Given the description of an element on the screen output the (x, y) to click on. 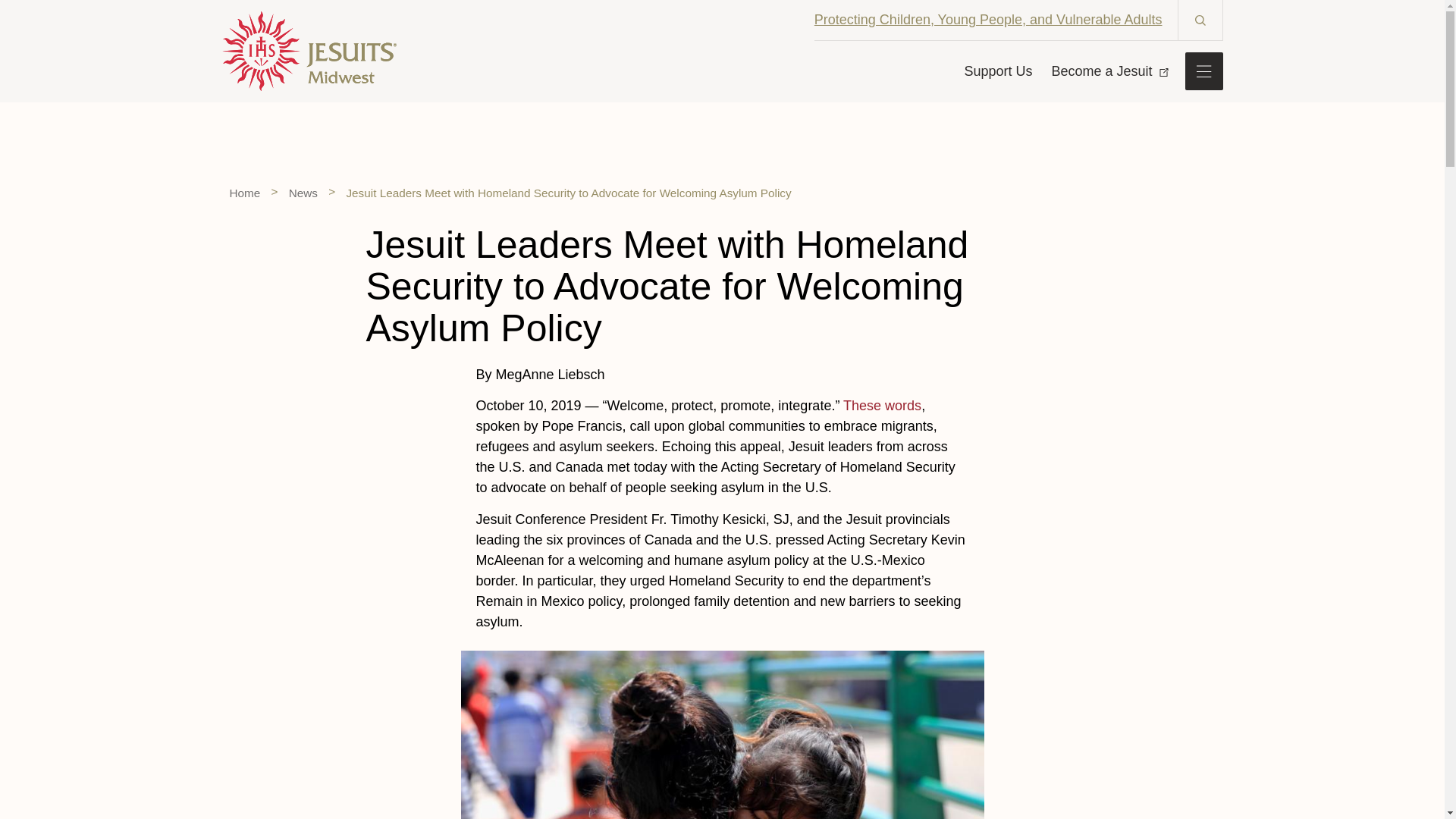
Home (244, 192)
Protecting Children, Young People, and Vulnerable Adults (987, 19)
News (302, 192)
These words (882, 405)
Support Us (997, 70)
Become a Jesuit (1107, 70)
